Given the description of an element on the screen output the (x, y) to click on. 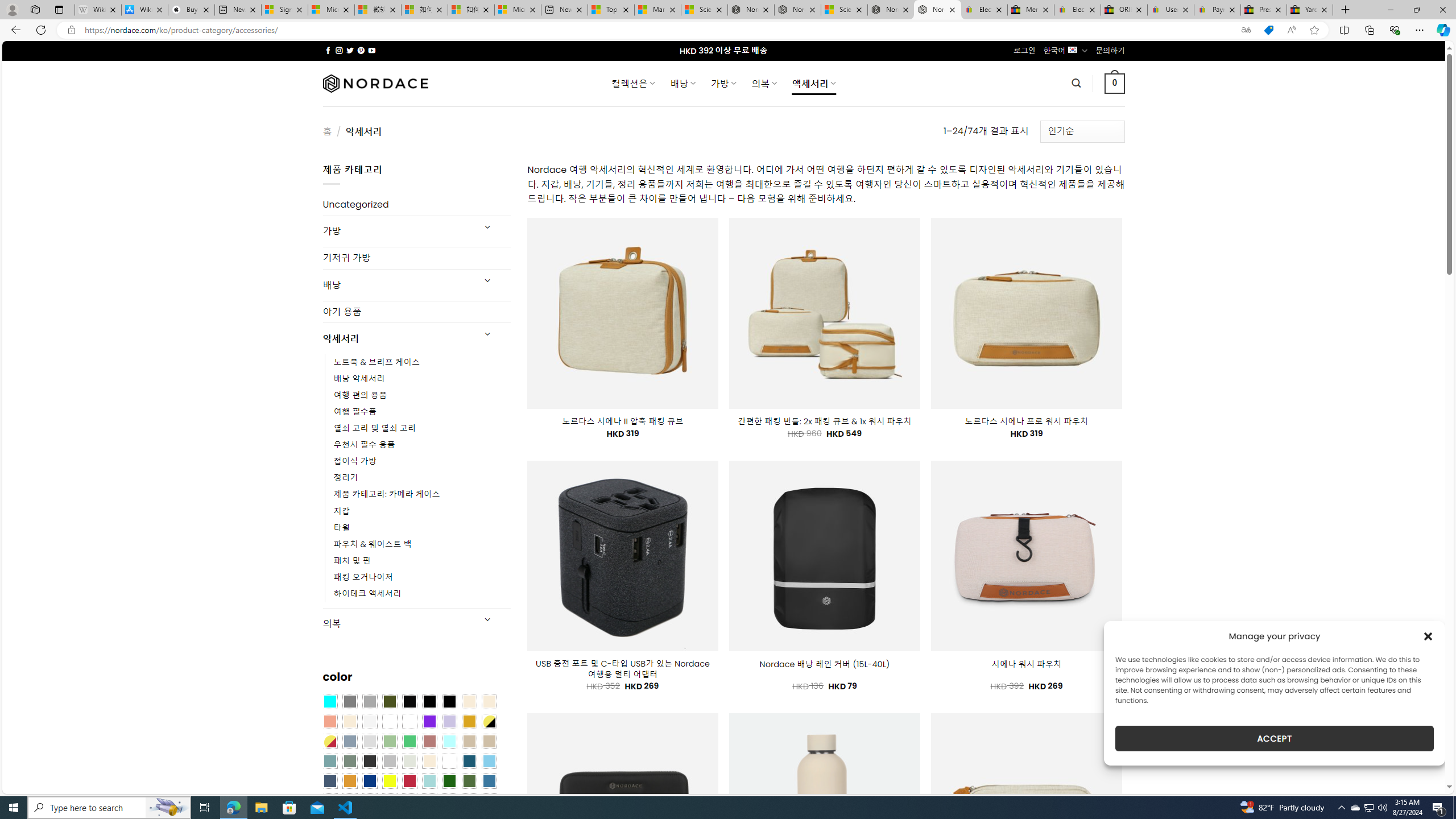
 0  (1115, 83)
This site has coupons! Shopping in Microsoft Edge (1268, 29)
